Given the description of an element on the screen output the (x, y) to click on. 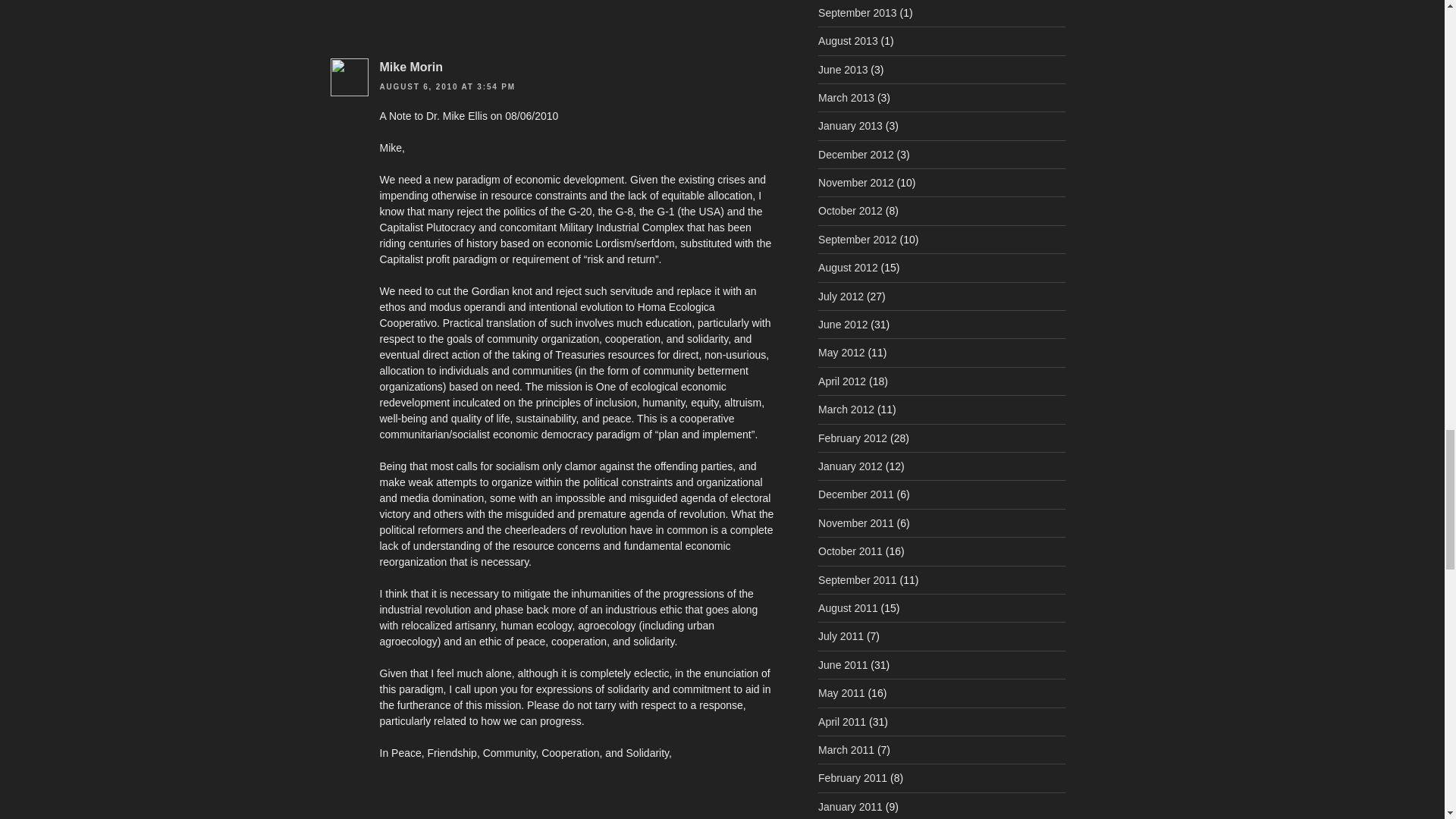
AUGUST 6, 2010 AT 3:54 PM (446, 86)
Mike Morin (410, 66)
